Given the description of an element on the screen output the (x, y) to click on. 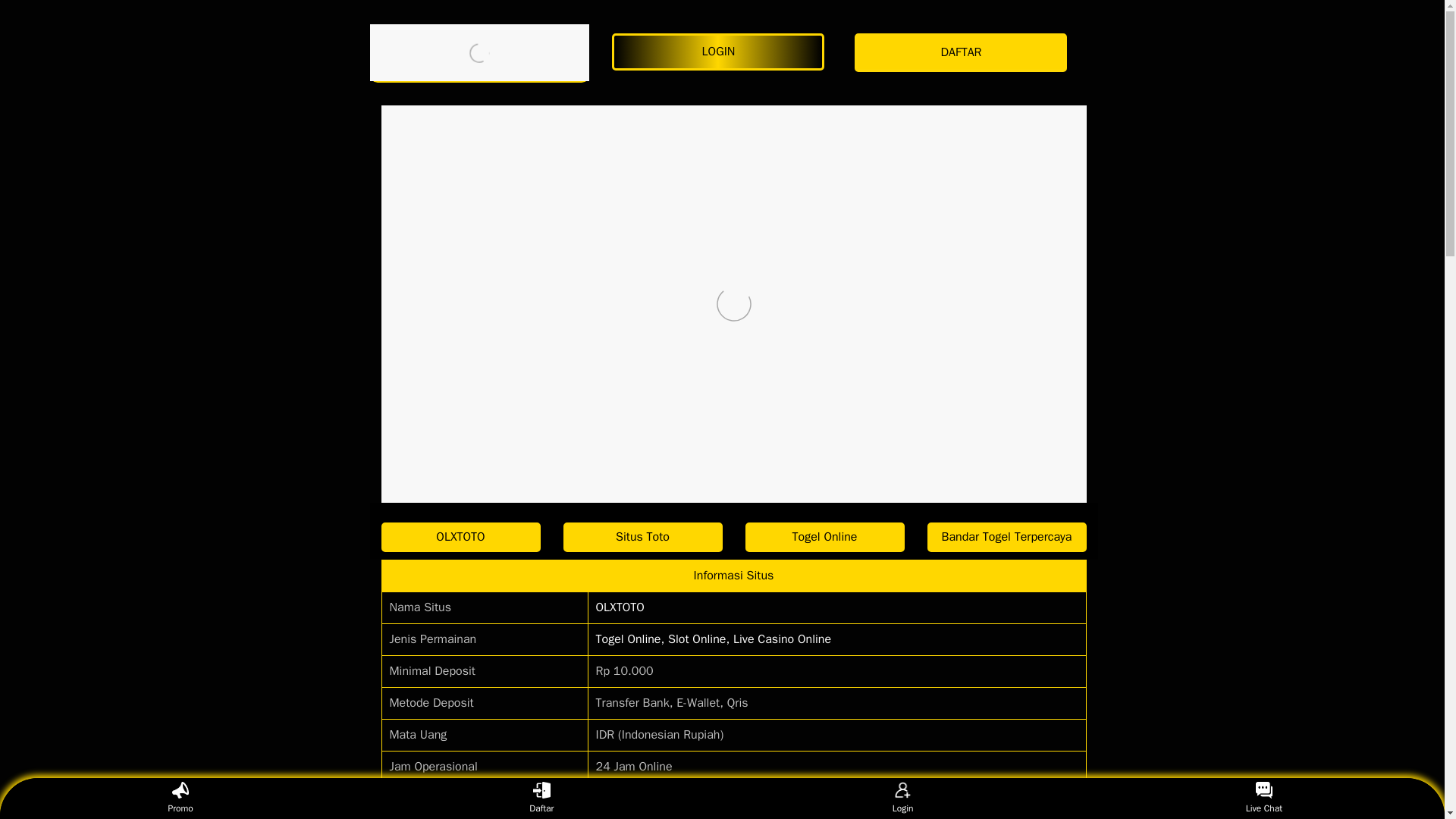
OLXTOTO (620, 607)
DAFTAR (964, 52)
Daftar (541, 797)
LOGIN (721, 51)
OLXTOTO (479, 52)
Promo (180, 797)
Togel Online (824, 537)
Situs Toto (642, 537)
Bandar Togel Terpercaya (1006, 537)
Live Chat (1263, 797)
OLXTOTO (460, 537)
Login (903, 797)
Situs Toto (642, 537)
Togel Online, Slot Online, Live Casino Online (713, 639)
Togel Online (824, 537)
